Given the description of an element on the screen output the (x, y) to click on. 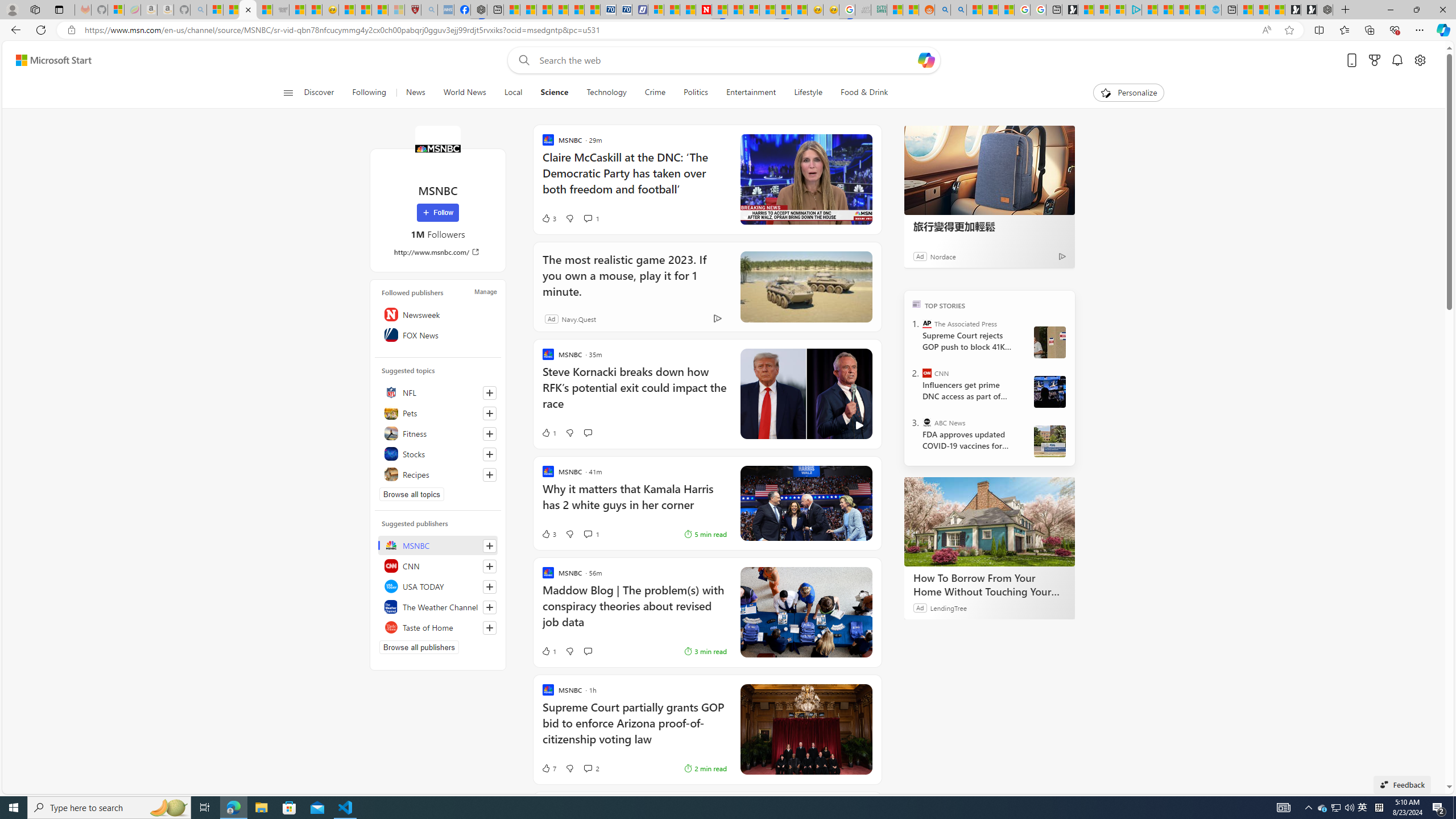
Web search (520, 60)
Browse all publishers (419, 647)
LendingTree (948, 607)
Follow this topic (489, 474)
Entertainment (750, 92)
How To Borrow From Your Home Without Touching Your Mortgage (989, 521)
3 Like (547, 533)
